Given the description of an element on the screen output the (x, y) to click on. 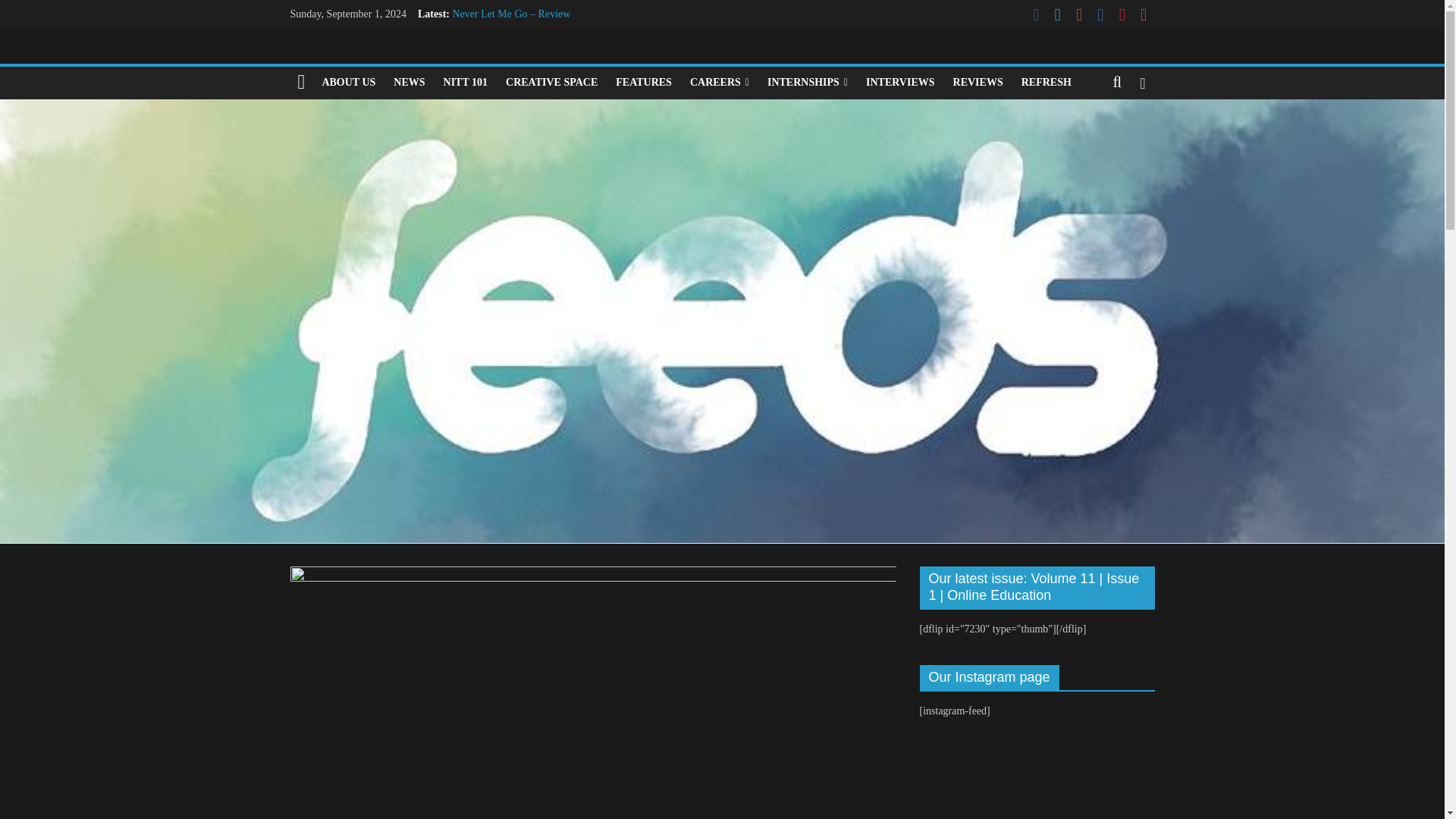
Aam ka achar (481, 30)
Once Upon A Pride (492, 81)
FEATURES (644, 82)
Silent Nights (479, 48)
NEWS (408, 82)
Whispers of a new Dawn (505, 64)
ABOUT US (348, 82)
Once Upon A Pride (492, 81)
NITT 101 (464, 82)
Aam ka achar (481, 30)
